Given the description of an element on the screen output the (x, y) to click on. 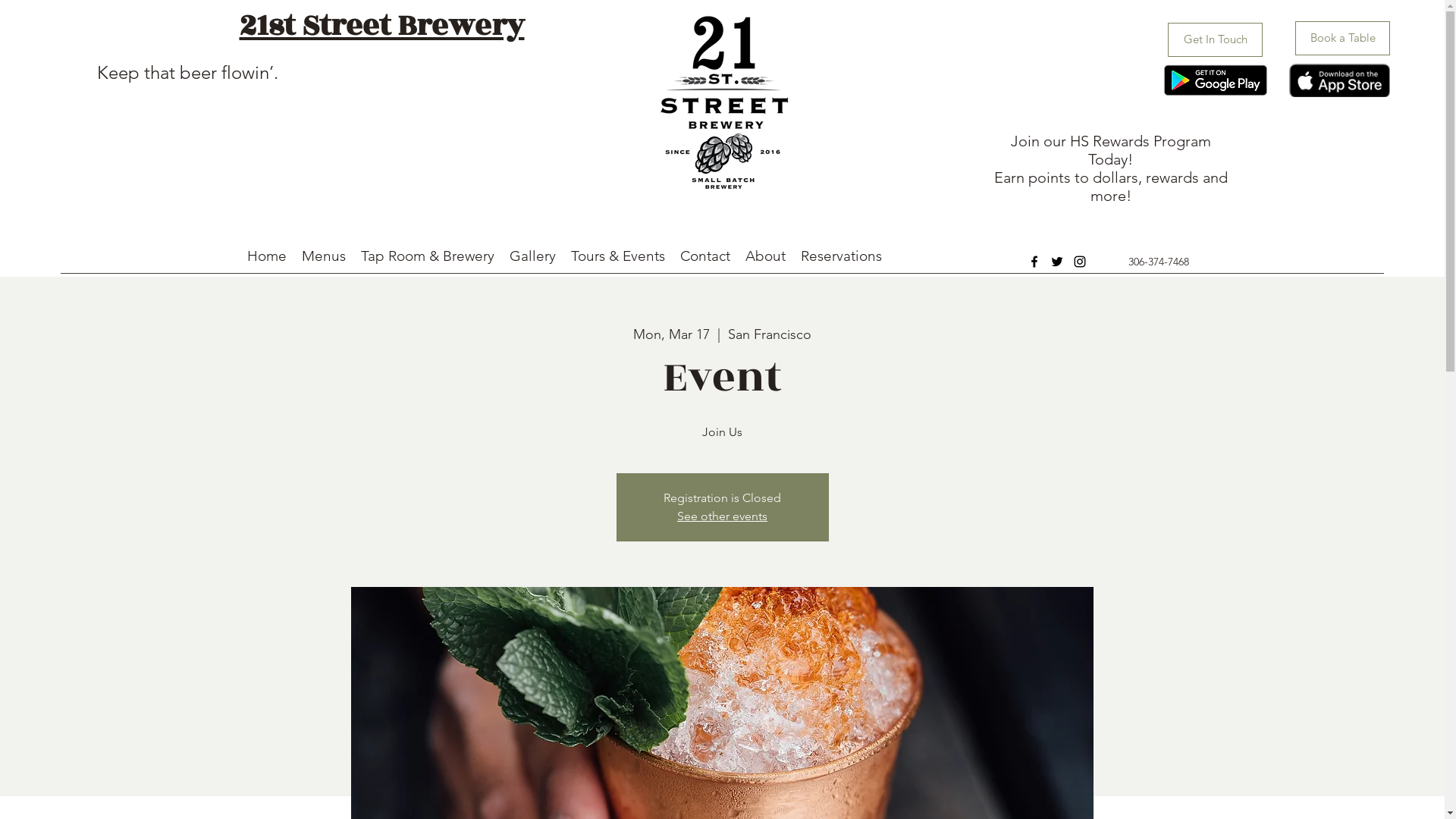
21st Street Brewery Element type: text (381, 25)
About Element type: text (764, 255)
Tours & Events Element type: text (616, 255)
Menus Element type: text (323, 255)
Gallery Element type: text (532, 255)
Tap Room & Brewery Element type: text (427, 255)
Contact Element type: text (704, 255)
Home Element type: text (266, 255)
Get In Touch Element type: text (1214, 39)
Book a Table Element type: text (1342, 38)
See other events Element type: text (722, 515)
Reservations Element type: text (841, 255)
